Given the description of an element on the screen output the (x, y) to click on. 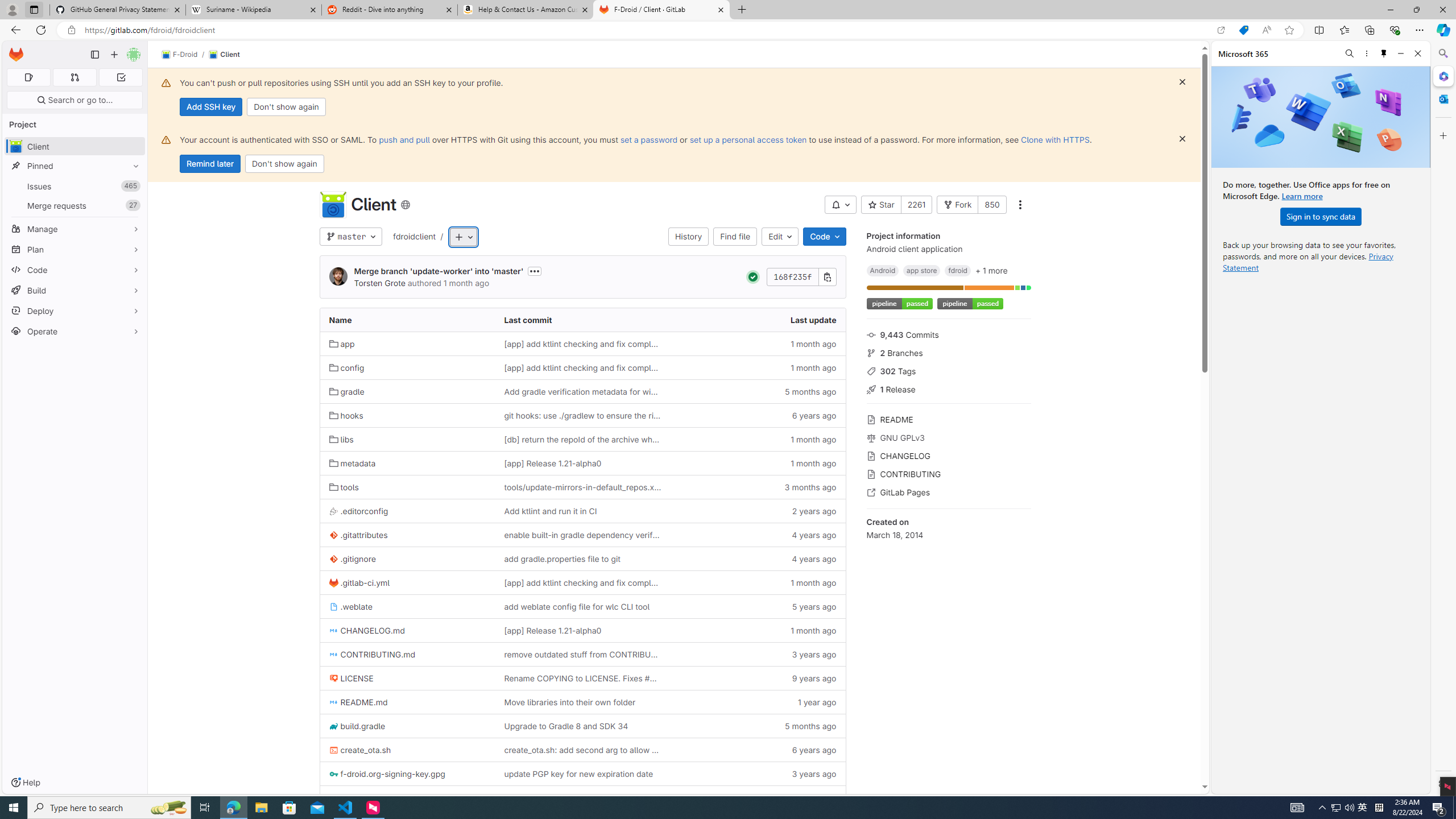
Merge requests27 (74, 205)
Suriname - Wikipedia (253, 9)
gradle (407, 391)
Build (74, 289)
Torsten Grote's avatar (338, 275)
Project badge (969, 303)
app (342, 343)
.weblate (350, 606)
create_ota.sh (407, 749)
Operate (74, 330)
[app] add ktlint checking and fix complaints it has (583, 582)
Remind later (210, 163)
